Given the description of an element on the screen output the (x, y) to click on. 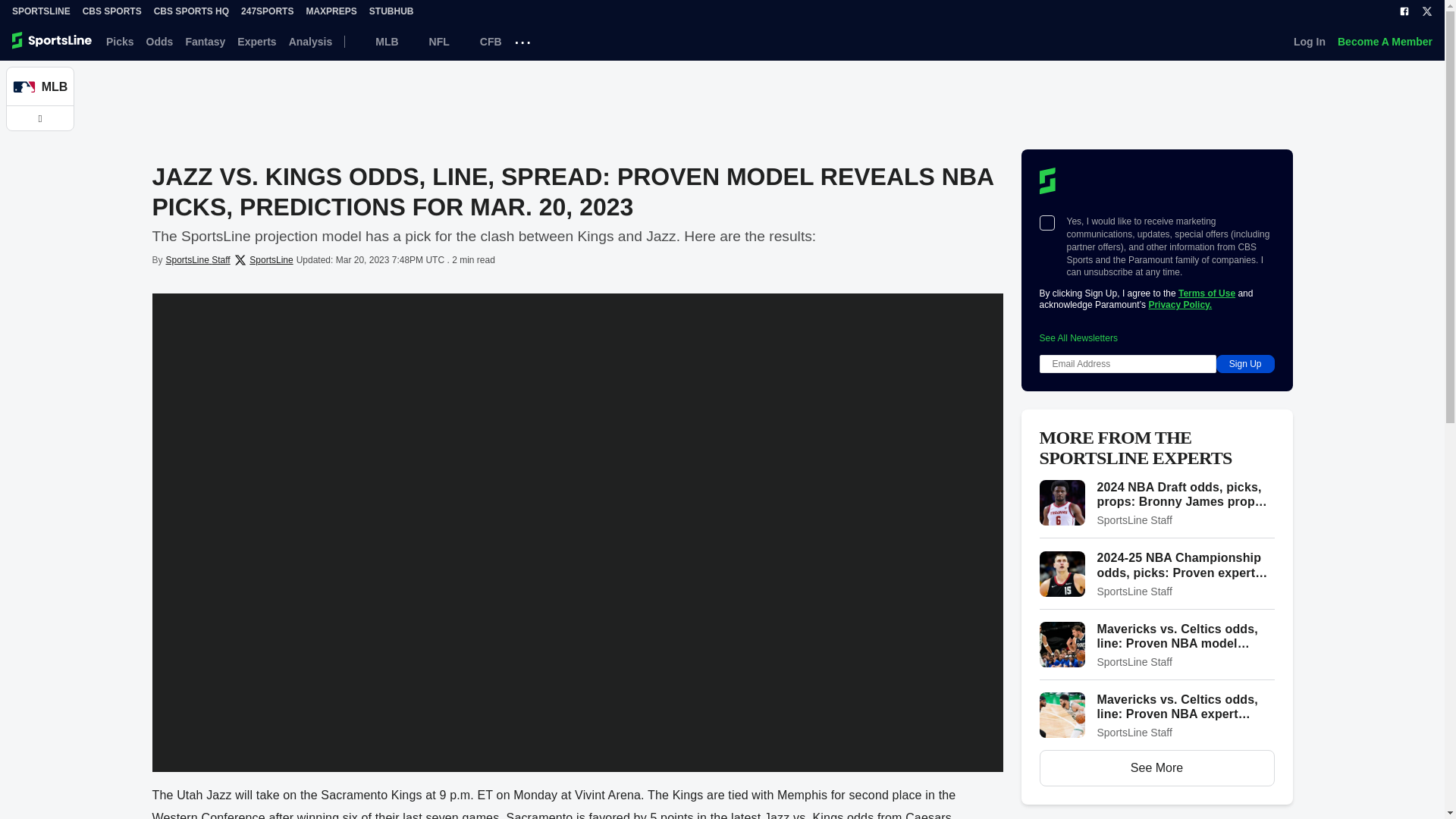
MaxPreps (330, 11)
CBS SPORTS HQ (191, 11)
Fantasy (204, 41)
MAXPREPS (330, 11)
Experts (256, 41)
CBS Sports (111, 11)
SportsLine (40, 11)
247SPORTS (267, 11)
CFB (481, 41)
CBS SPORTS (111, 11)
